Given the description of an element on the screen output the (x, y) to click on. 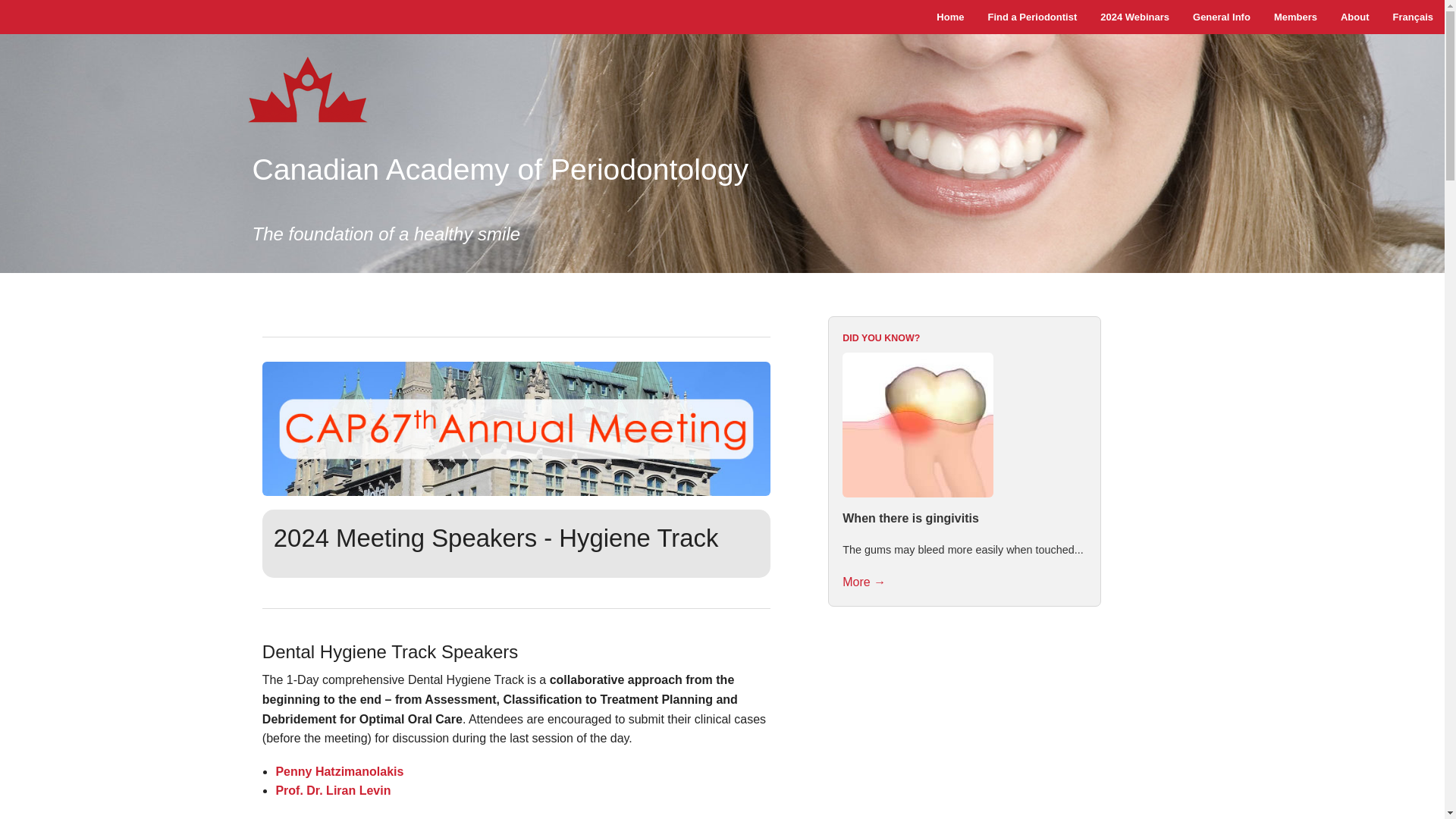
General Info (1221, 17)
Home (949, 17)
What is? (1221, 63)
Jump the GAP with CAP (1134, 63)
2024 Webinars (1134, 17)
Therapy Sequence (1221, 83)
Periodontal Services (1221, 103)
Zoom in with CAP (1134, 44)
Find a Periodontist (1031, 17)
What is a Periodontist (1221, 44)
